Given the description of an element on the screen output the (x, y) to click on. 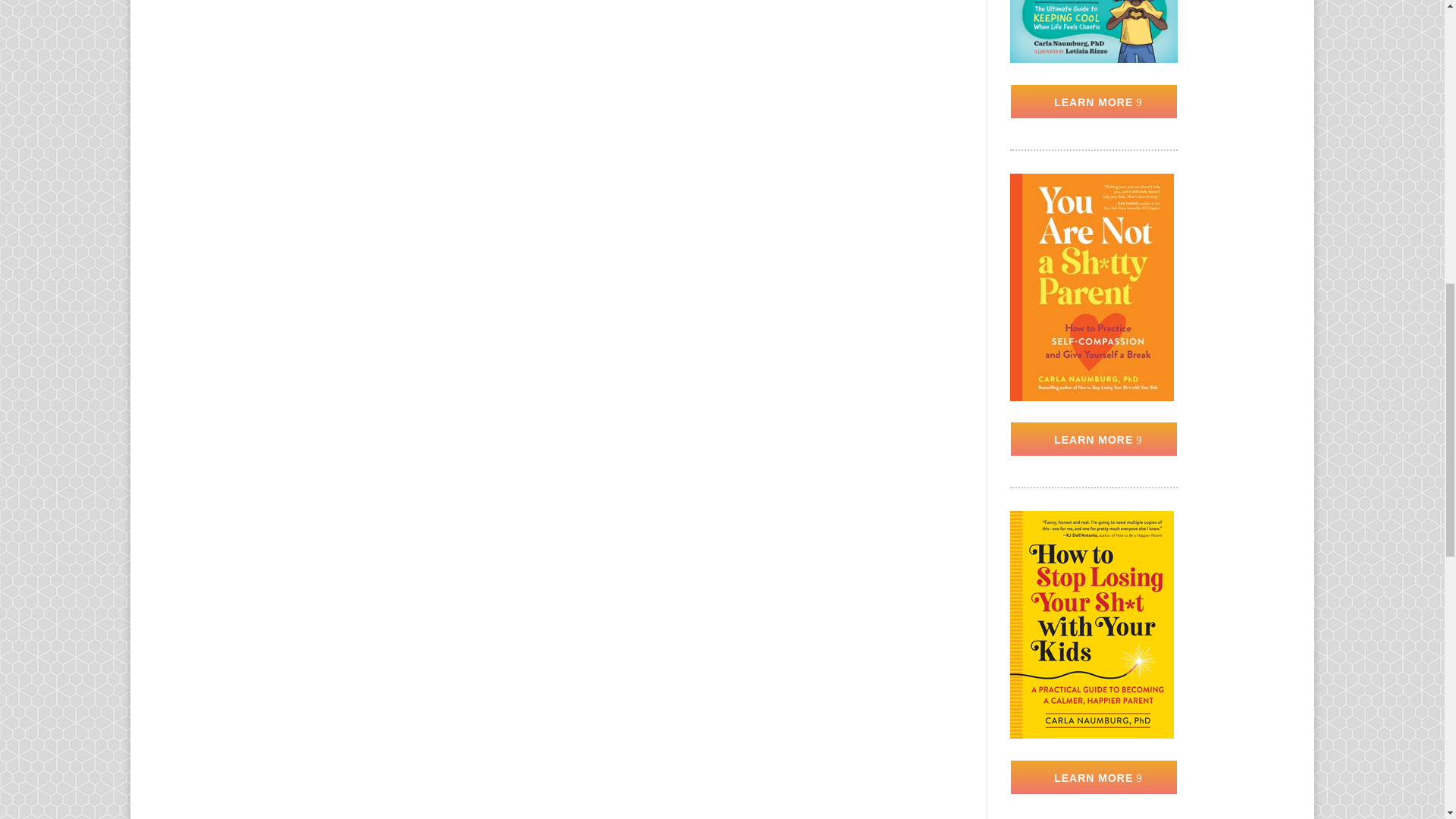
LEARN MORE (1093, 101)
LEARN MORE (1093, 777)
LEARN MORE (1093, 438)
